Given the description of an element on the screen output the (x, y) to click on. 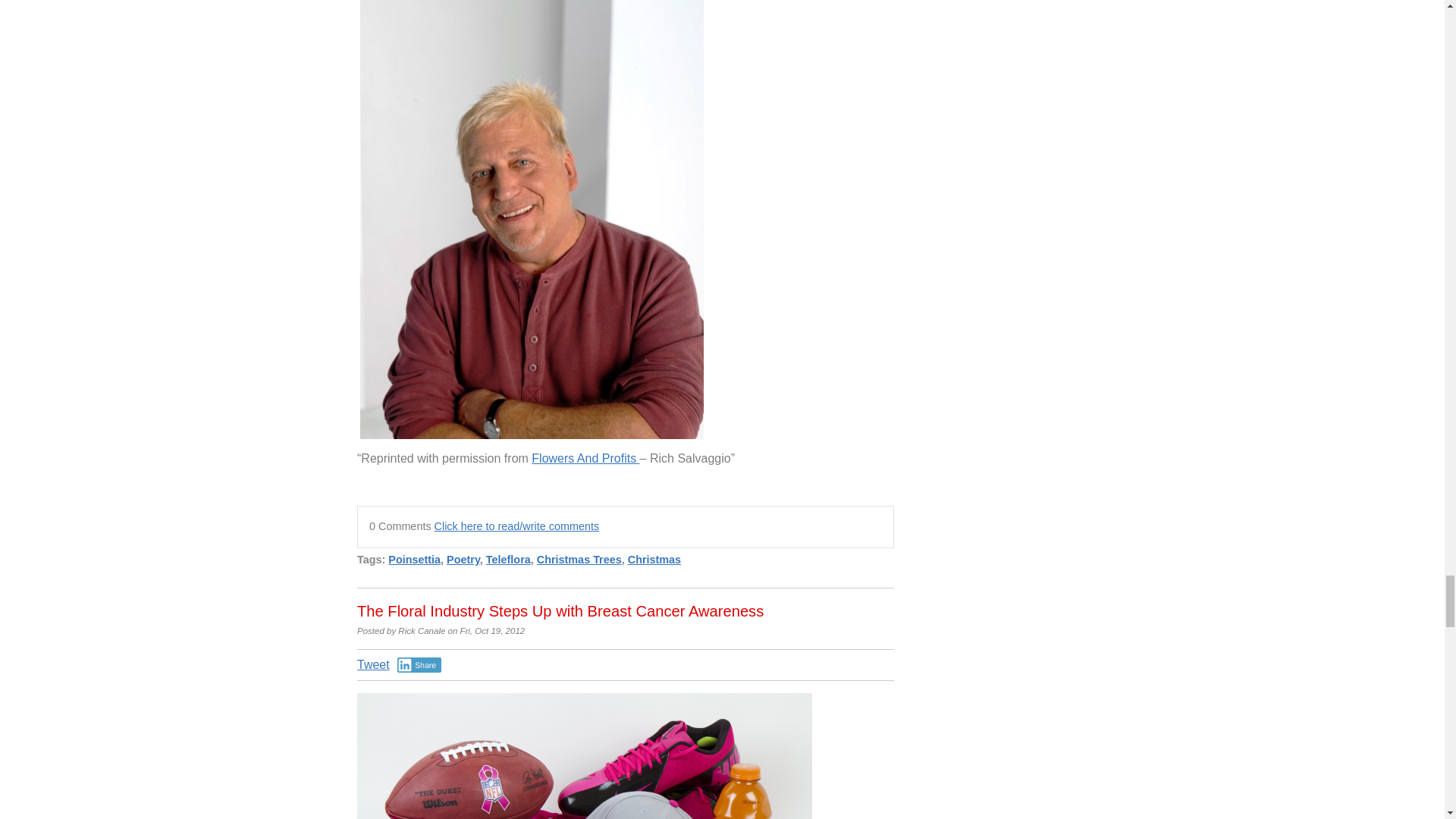
Flowers And Profits   (585, 458)
